Given the description of an element on the screen output the (x, y) to click on. 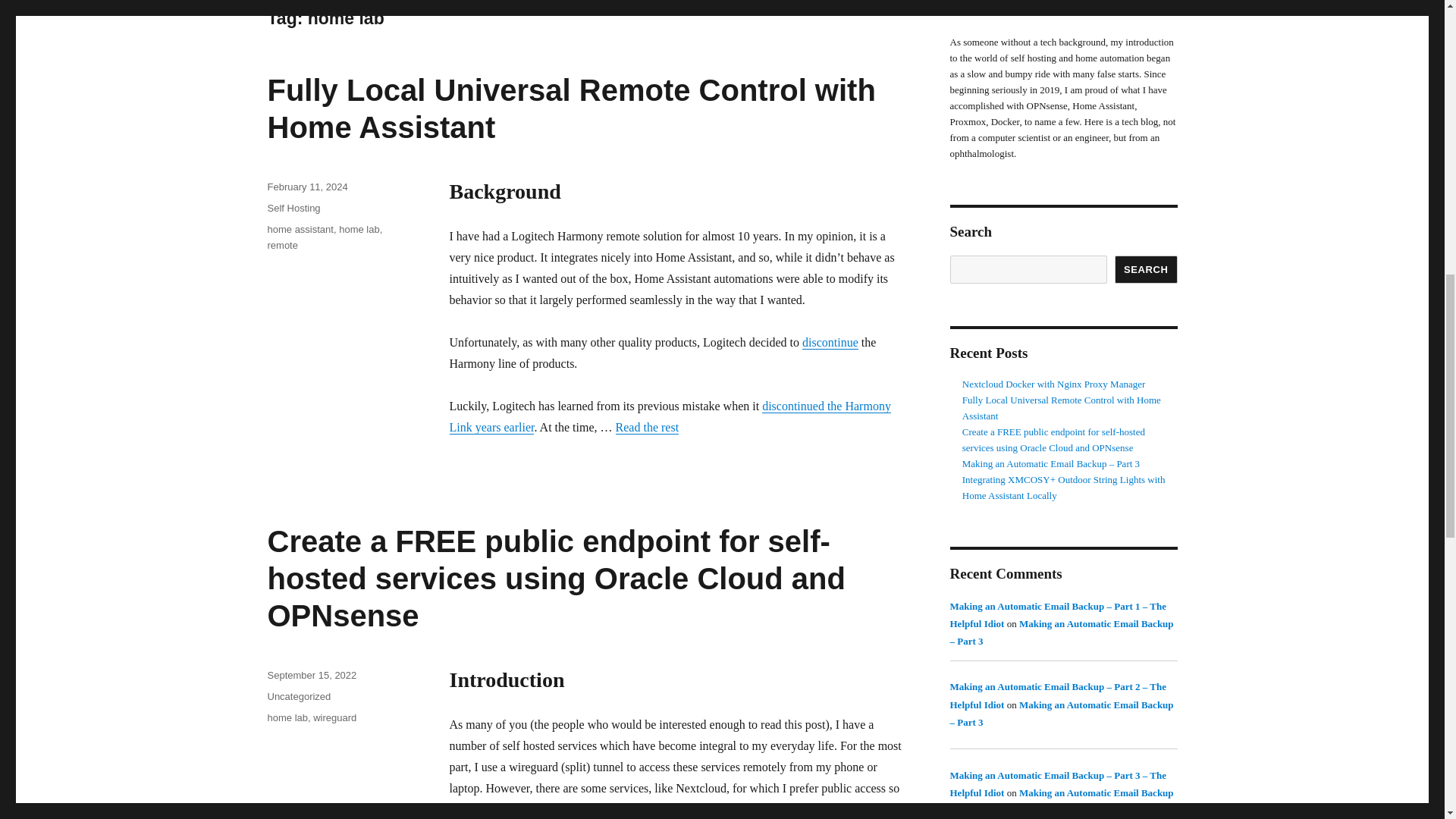
discontinue (830, 341)
home assistant (299, 229)
Self Hosting (293, 207)
remote (281, 244)
February 11, 2024 (306, 186)
wireguard (334, 717)
home lab (358, 229)
Read the rest (647, 427)
Fully Local Universal Remote Control with Home Assistant (570, 108)
home lab (286, 717)
discontinued the Harmony Link years earlier (668, 416)
September 15, 2022 (311, 674)
Uncategorized (298, 696)
SEARCH (1146, 269)
